Given the description of an element on the screen output the (x, y) to click on. 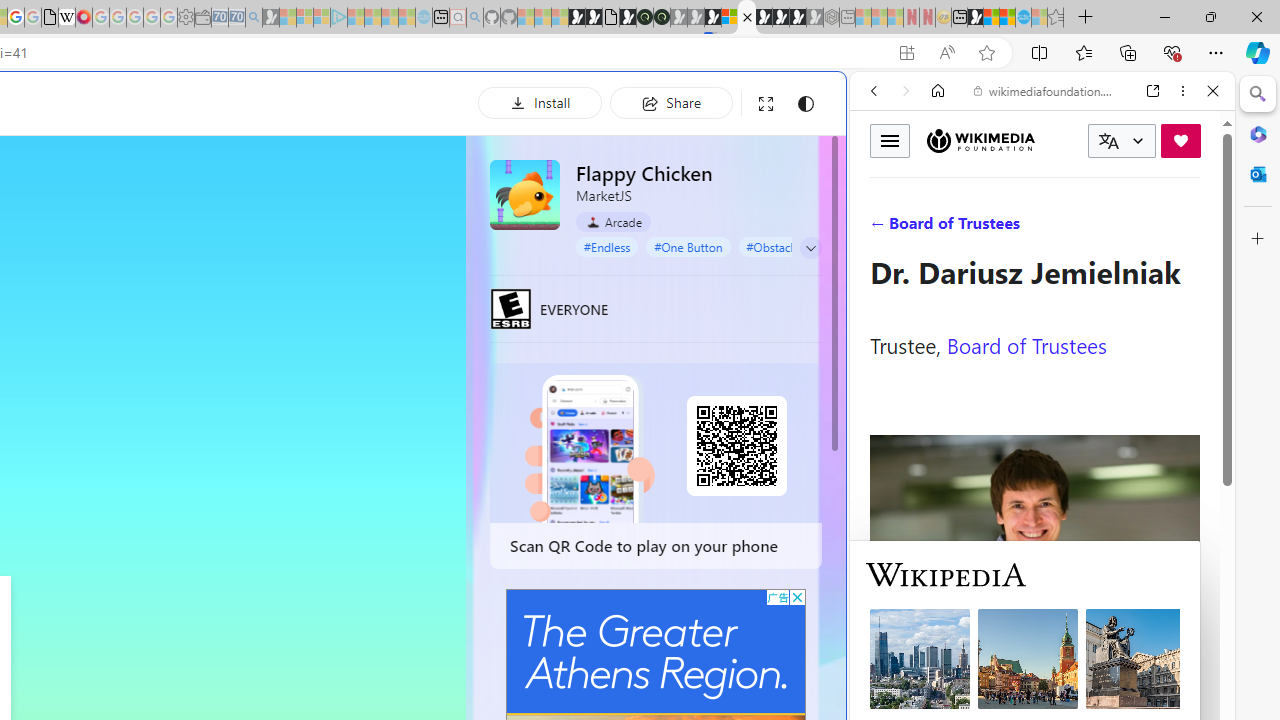
Wallet - Sleeping (202, 17)
Play Cave FRVR in your browser | Games from Microsoft Start (343, 426)
Future Focus Report 2024 (661, 17)
Search Filter, WEB (882, 228)
